Given the description of an element on the screen output the (x, y) to click on. 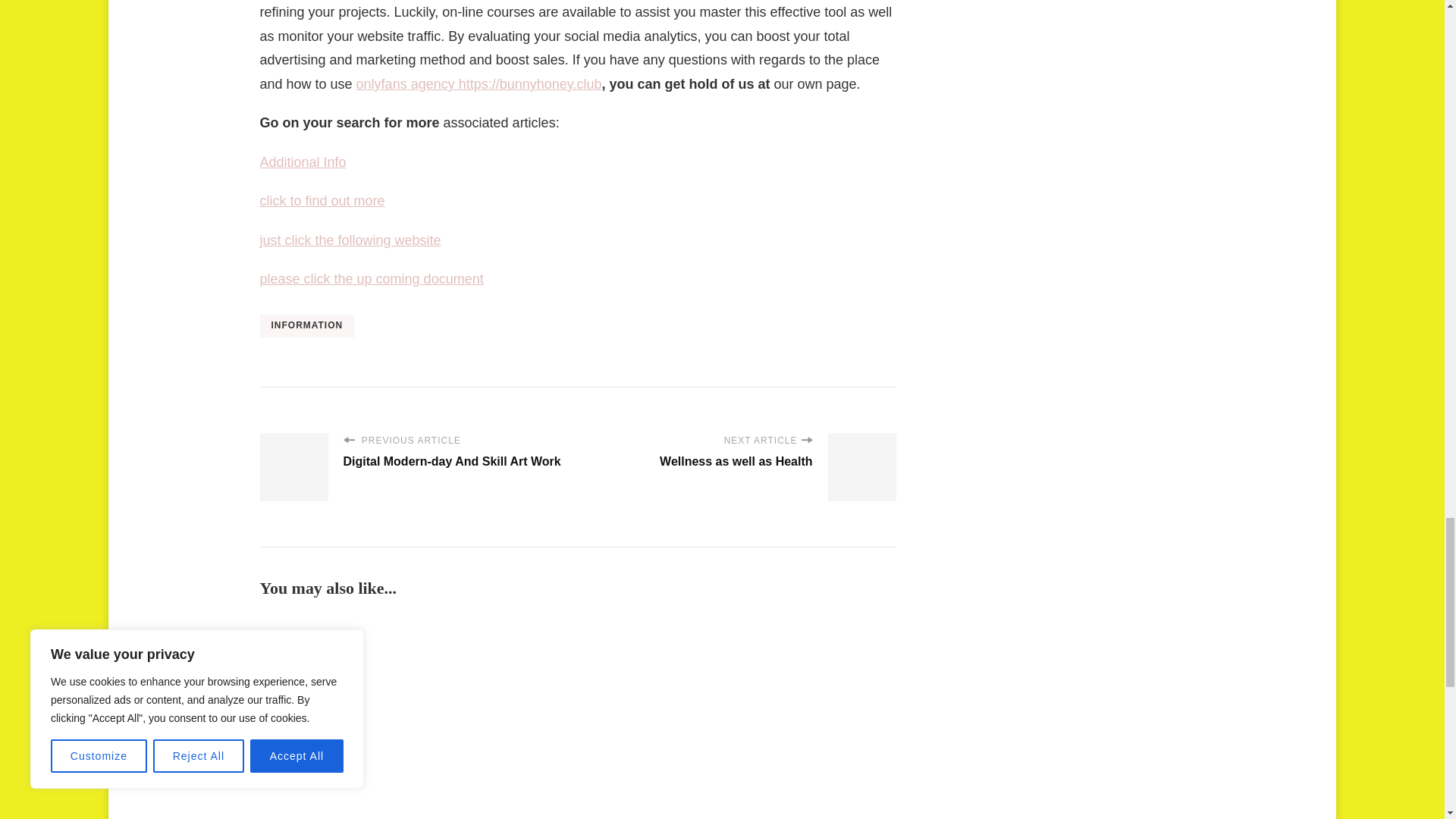
please click the up coming document (371, 278)
Additional Info (302, 161)
click to find out more (321, 200)
INFORMATION (306, 325)
just click the following website (350, 240)
